Given the description of an element on the screen output the (x, y) to click on. 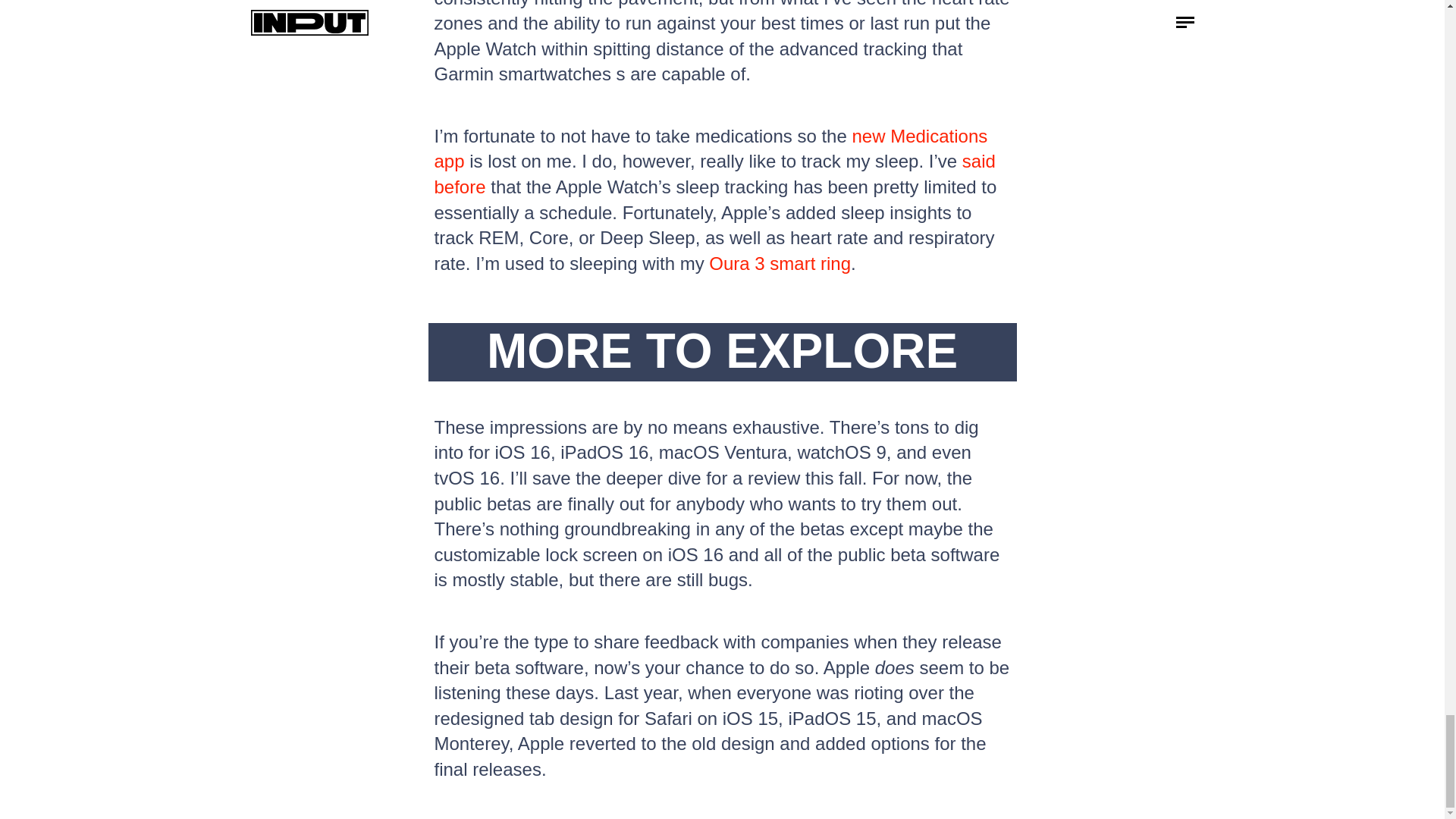
said before (713, 173)
Oura 3 smart ring (779, 263)
new Medications app (710, 148)
